Given the description of an element on the screen output the (x, y) to click on. 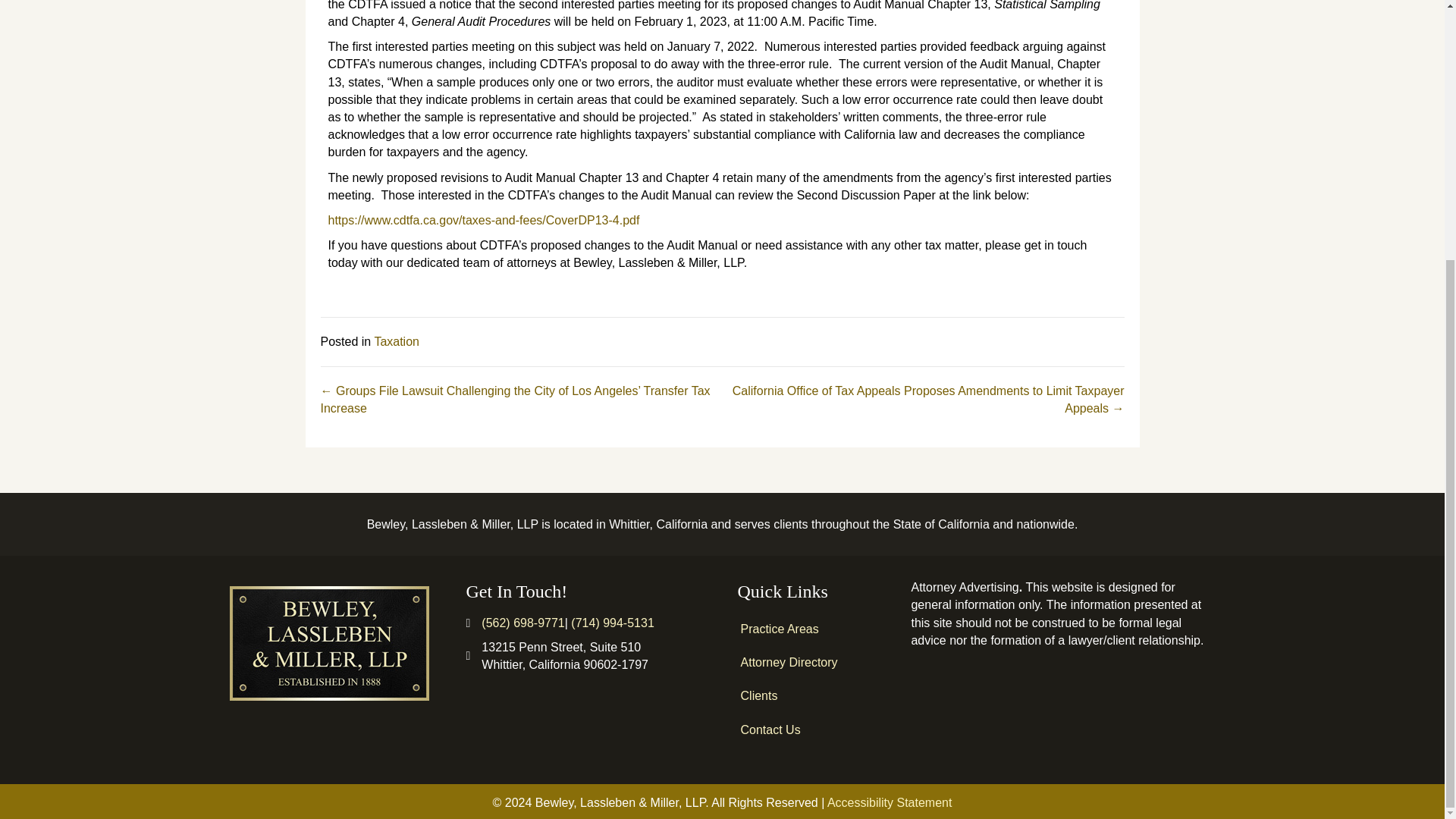
Taxation (396, 341)
Attorney Directory (813, 662)
Practice Areas (813, 628)
Clients (813, 695)
